Given the description of an element on the screen output the (x, y) to click on. 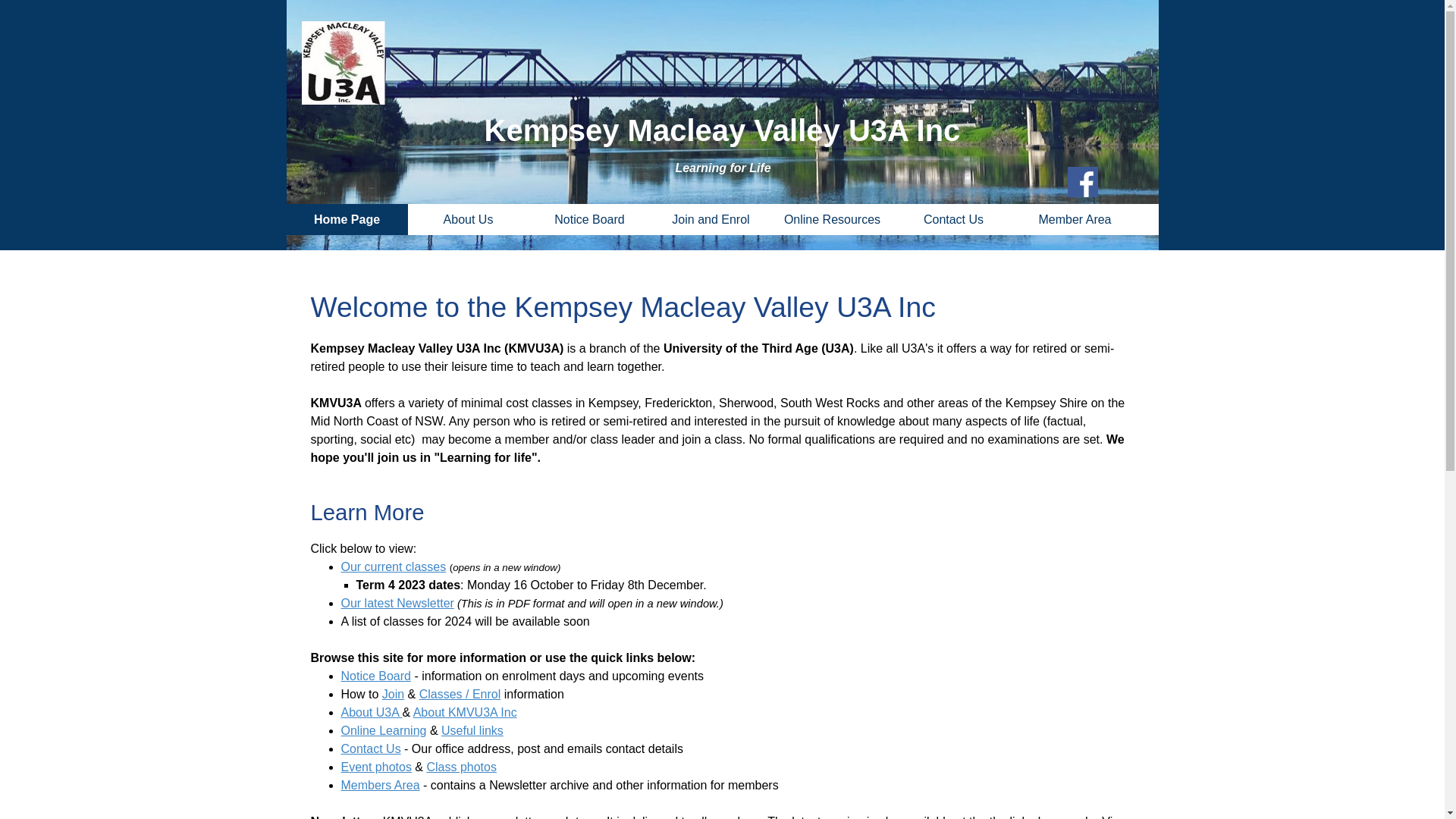
KMVU3A Logo Element type: hover (343, 62)
Classes / Enrol Element type: text (460, 693)
Our current classes Element type: text (393, 566)
Members Area Element type: text (380, 784)
Online Learning Element type: text (383, 730)
Join Element type: text (393, 693)
Event photos Element type: text (376, 766)
Class photos Element type: text (461, 766)
Notice Board Element type: text (376, 675)
About U3A Element type: text (371, 712)
Member Area Element type: text (1074, 219)
Our latest Newsletter Element type: text (397, 602)
Contact Us Element type: text (371, 748)
Notice Board Element type: text (589, 219)
About KMVU3A Inc Element type: text (465, 712)
Useful links Element type: text (472, 730)
Home Page Element type: text (346, 219)
Contact Us Element type: text (953, 219)
